Given the description of an element on the screen output the (x, y) to click on. 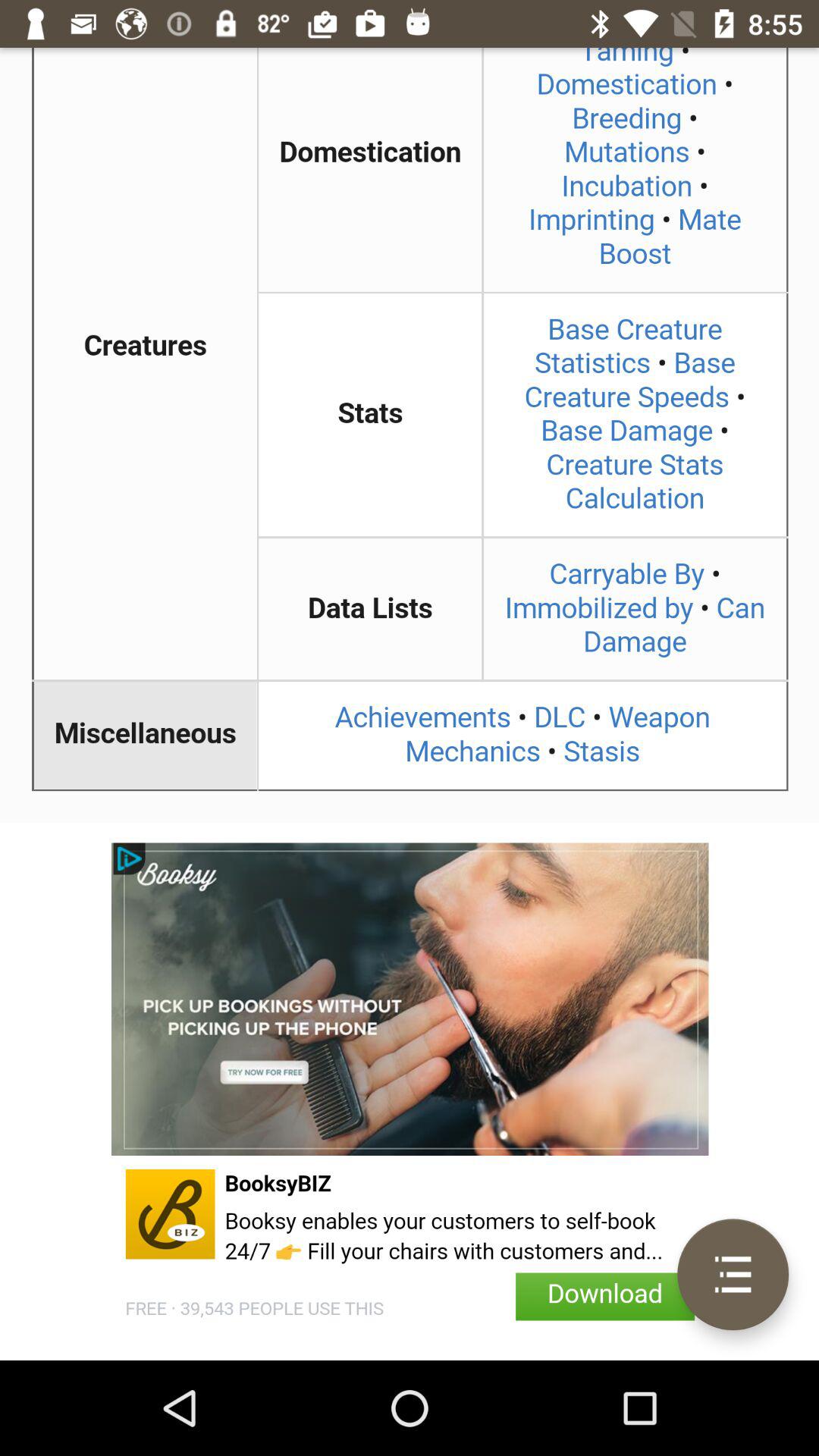
open menu (732, 1274)
